Given the description of an element on the screen output the (x, y) to click on. 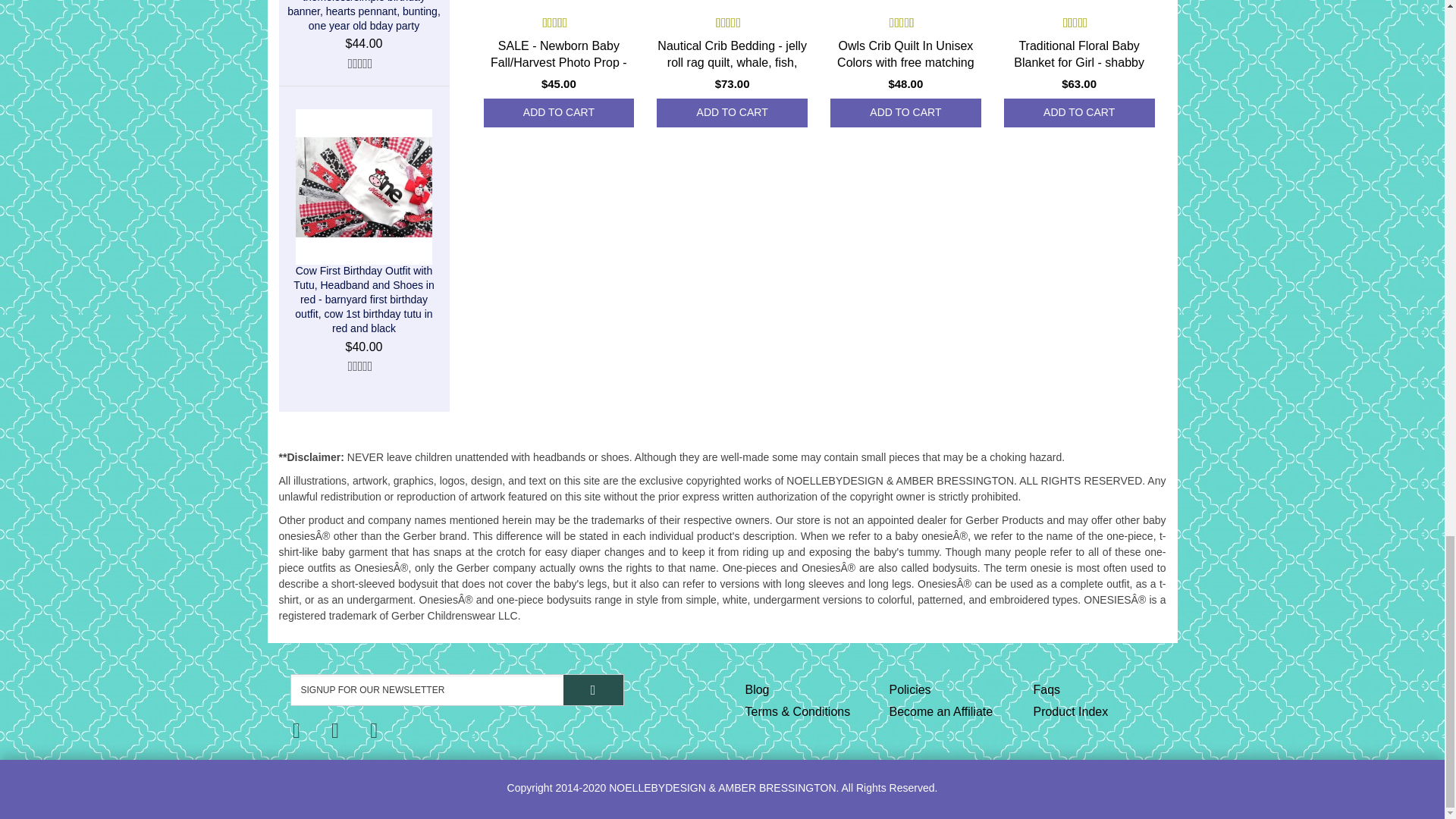
Follow Us on Instagram (373, 730)
Like Us on Facebook (296, 730)
Follow Us on Pinterest (335, 730)
